Given the description of an element on the screen output the (x, y) to click on. 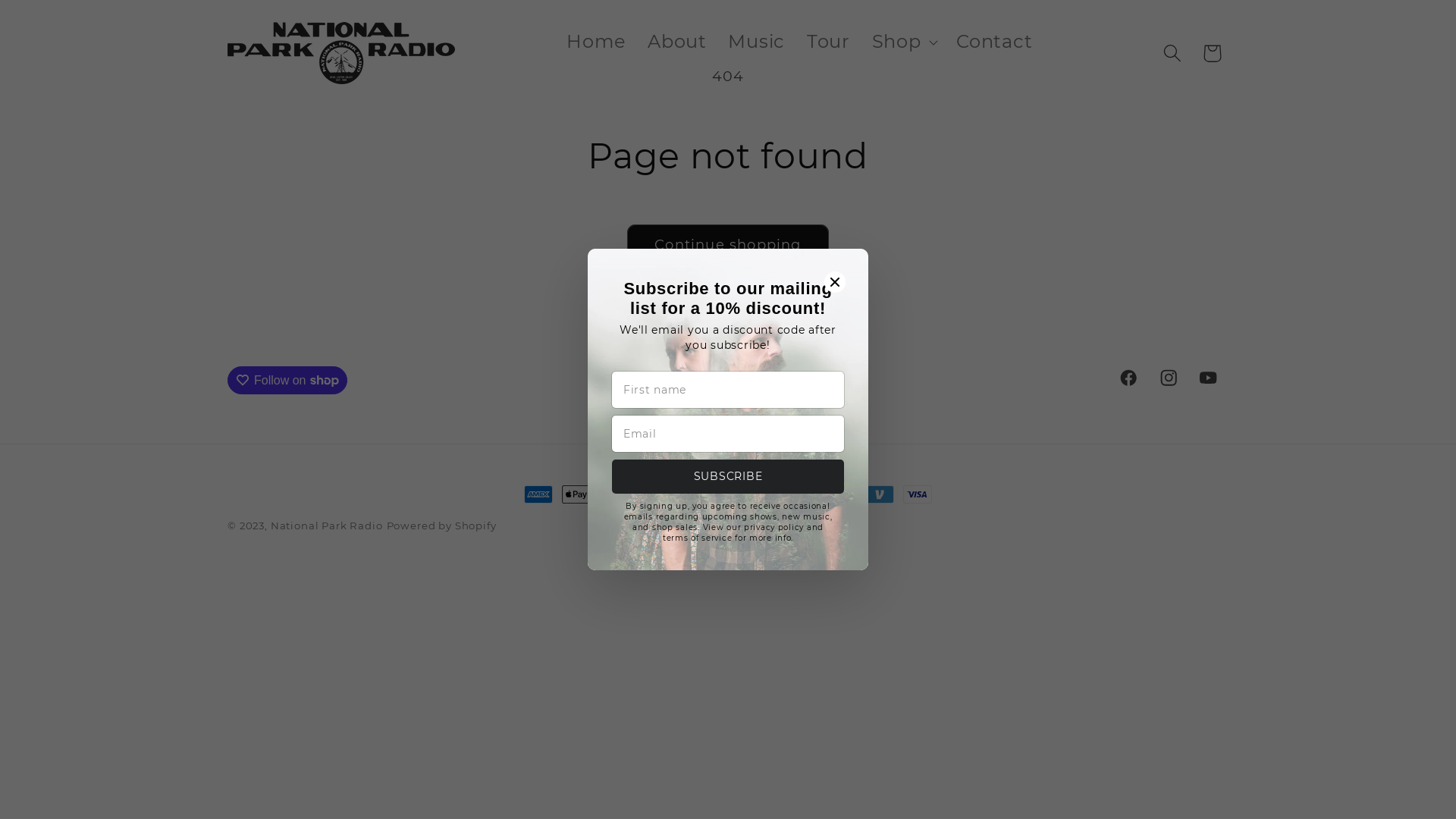
Contact Element type: text (994, 41)
About Element type: text (677, 41)
YouTube Element type: text (1208, 377)
Music Element type: text (756, 41)
Cart Element type: text (1212, 53)
Continue shopping Element type: text (727, 245)
Home Element type: text (596, 41)
Instagram Element type: text (1168, 377)
Powered by Shopify Element type: text (441, 525)
National Park Radio Element type: text (326, 525)
Facebook Element type: text (1128, 377)
Tour Element type: text (827, 41)
